Given the description of an element on the screen output the (x, y) to click on. 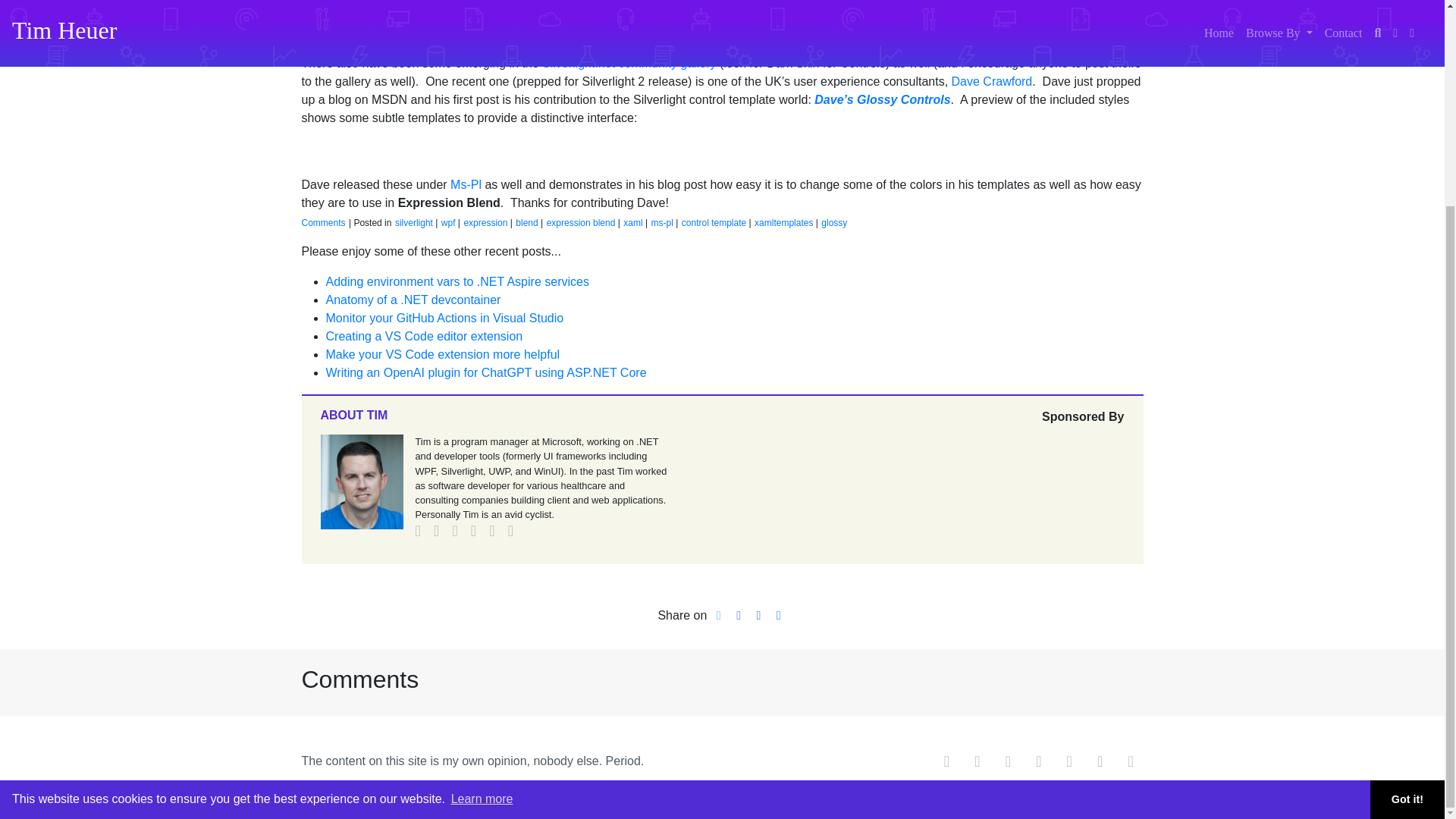
xaml (632, 222)
Dave Crawford (992, 81)
Learn more (481, 533)
ms-pl (661, 222)
Comments (323, 222)
Ms-Pl (465, 184)
blend (526, 222)
Silverlight.net community gallery (628, 62)
expression blend (581, 222)
XAMLTemplates.net (941, 14)
expression (484, 222)
wpf (448, 222)
silverlight (413, 222)
